Given the description of an element on the screen output the (x, y) to click on. 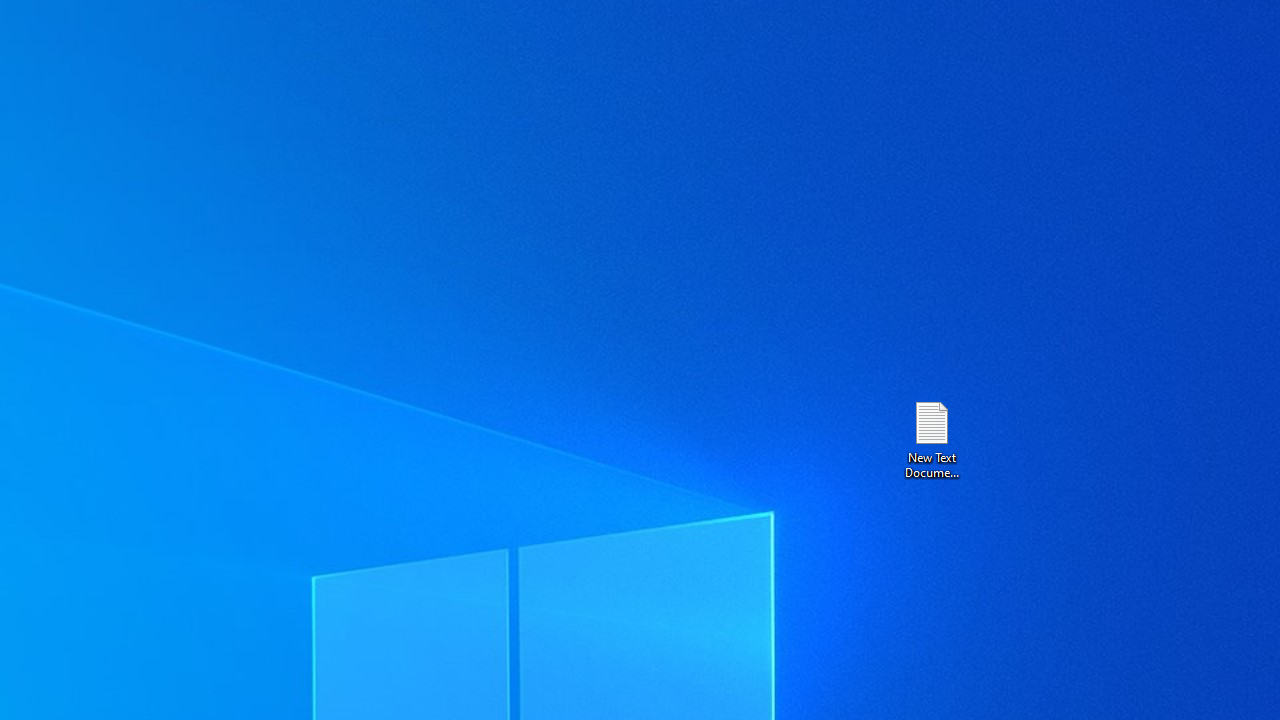
New Text Document (2) (931, 438)
